Given the description of an element on the screen output the (x, y) to click on. 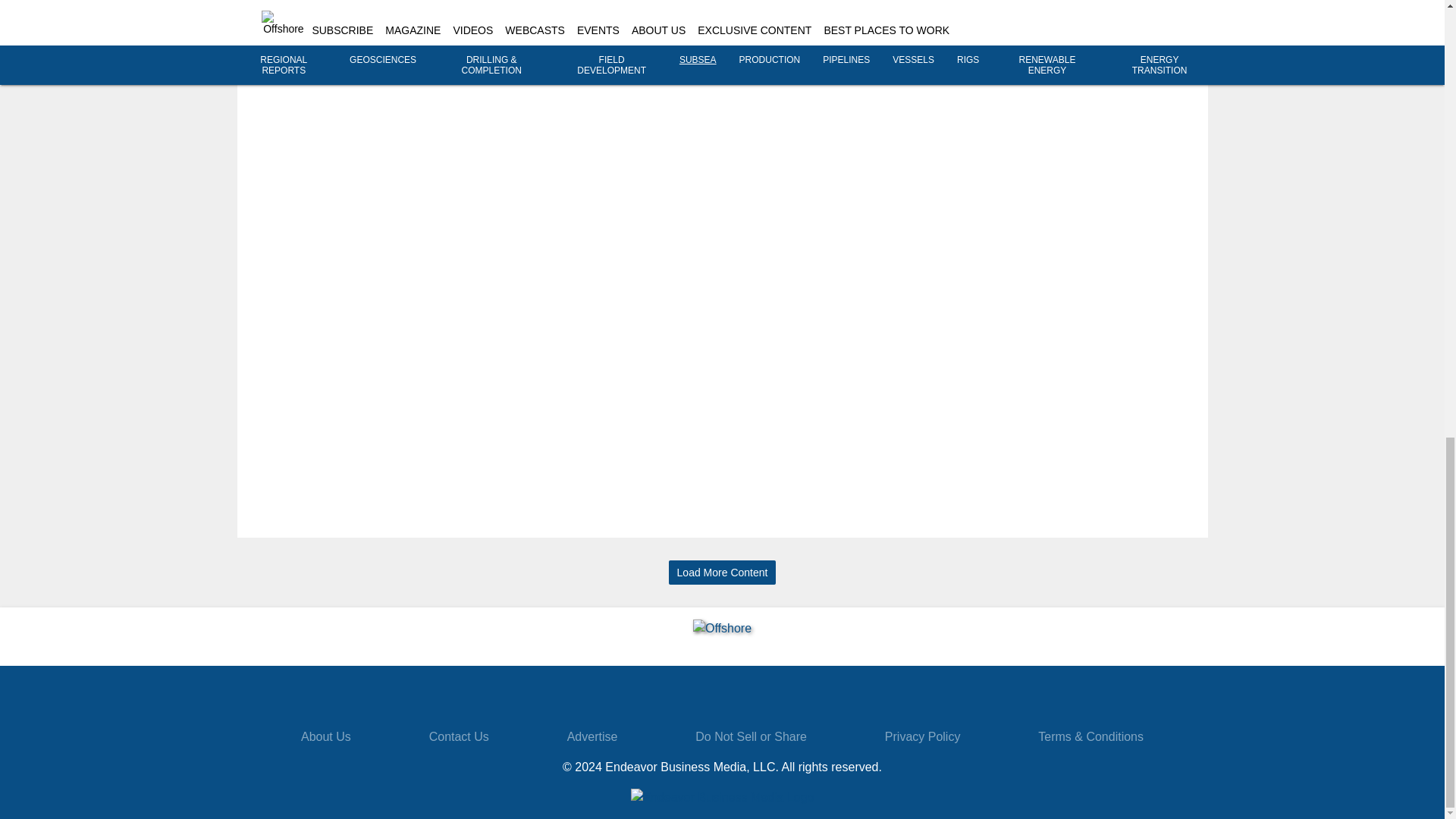
phoenix decom  (1137, 22)
